Given the description of an element on the screen output the (x, y) to click on. 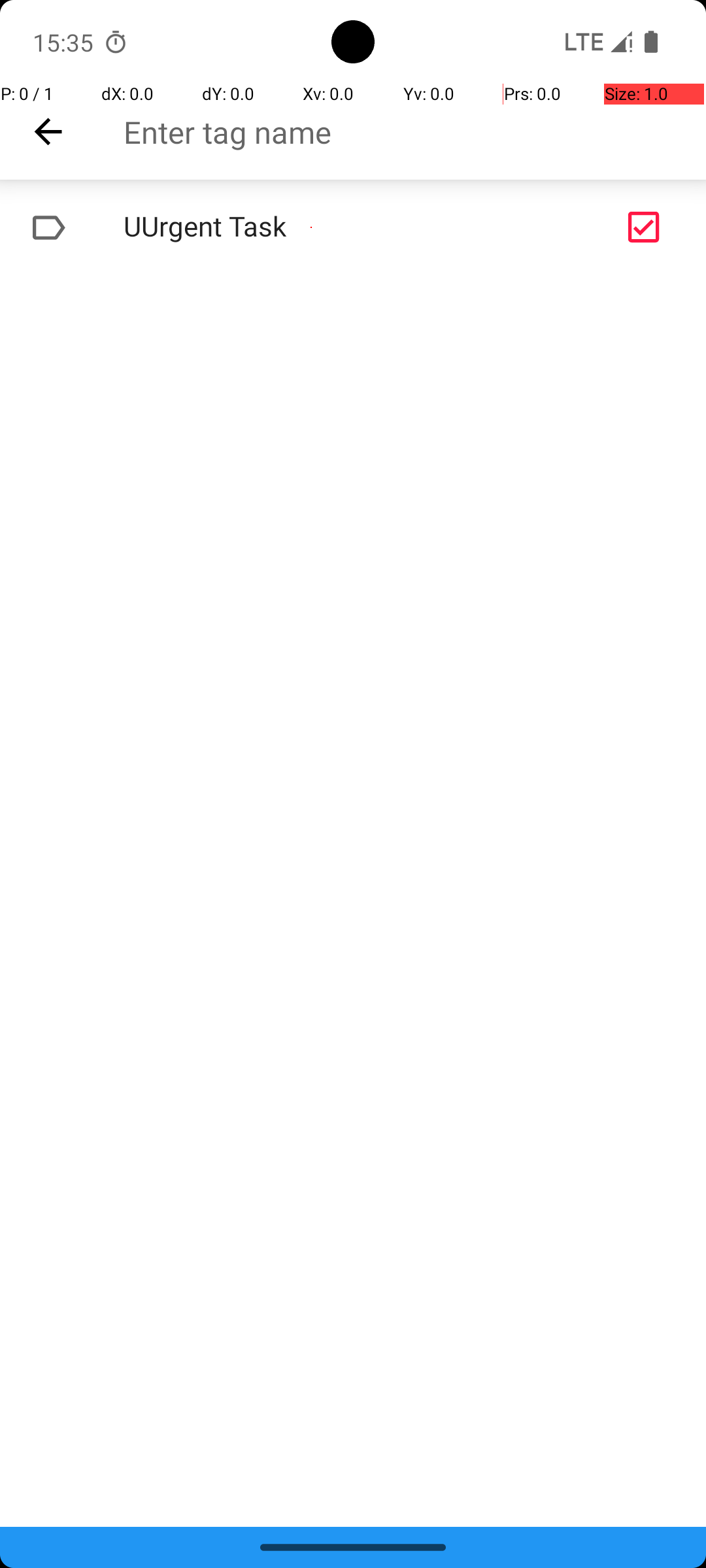
Enter tag name Element type: android.widget.EditText (414, 131)
UUrgent Task Element type: android.widget.TextView (311, 227)
